Given the description of an element on the screen output the (x, y) to click on. 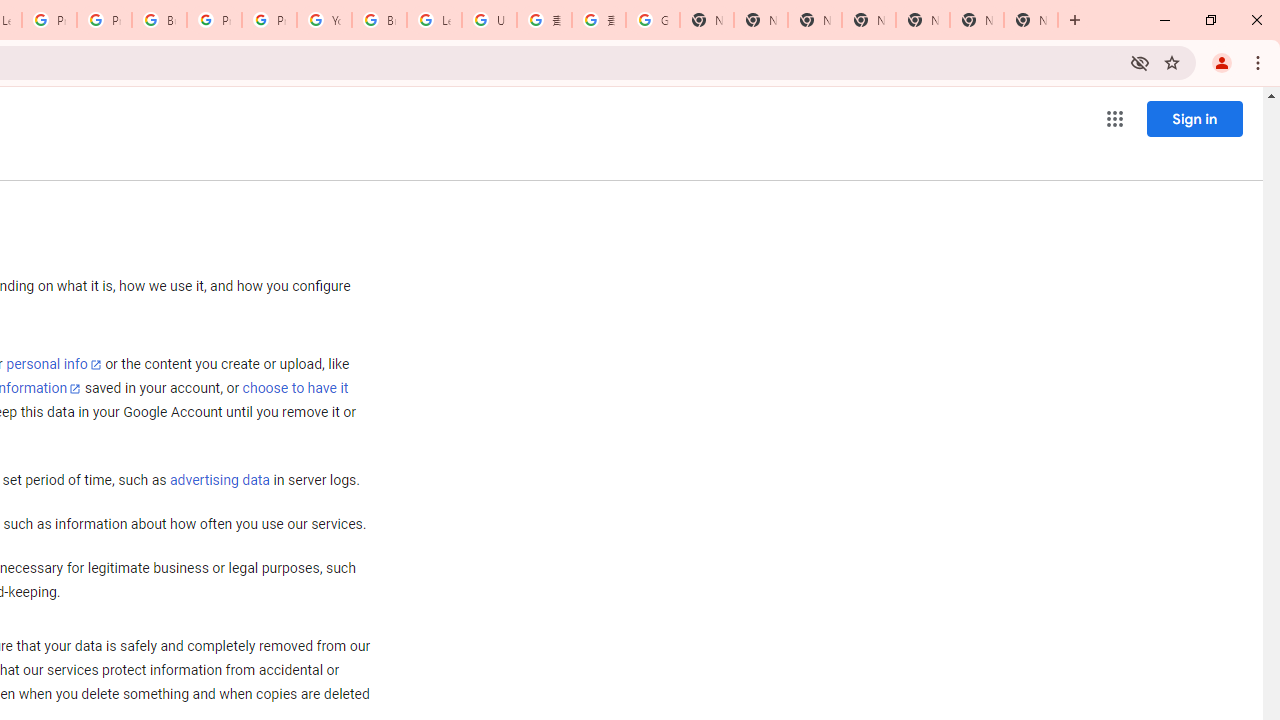
New Tab (1030, 20)
New Tab (868, 20)
Google Images (652, 20)
Privacy Help Center - Policies Help (103, 20)
YouTube (324, 20)
Privacy Help Center - Policies Help (48, 20)
